Given the description of an element on the screen output the (x, y) to click on. 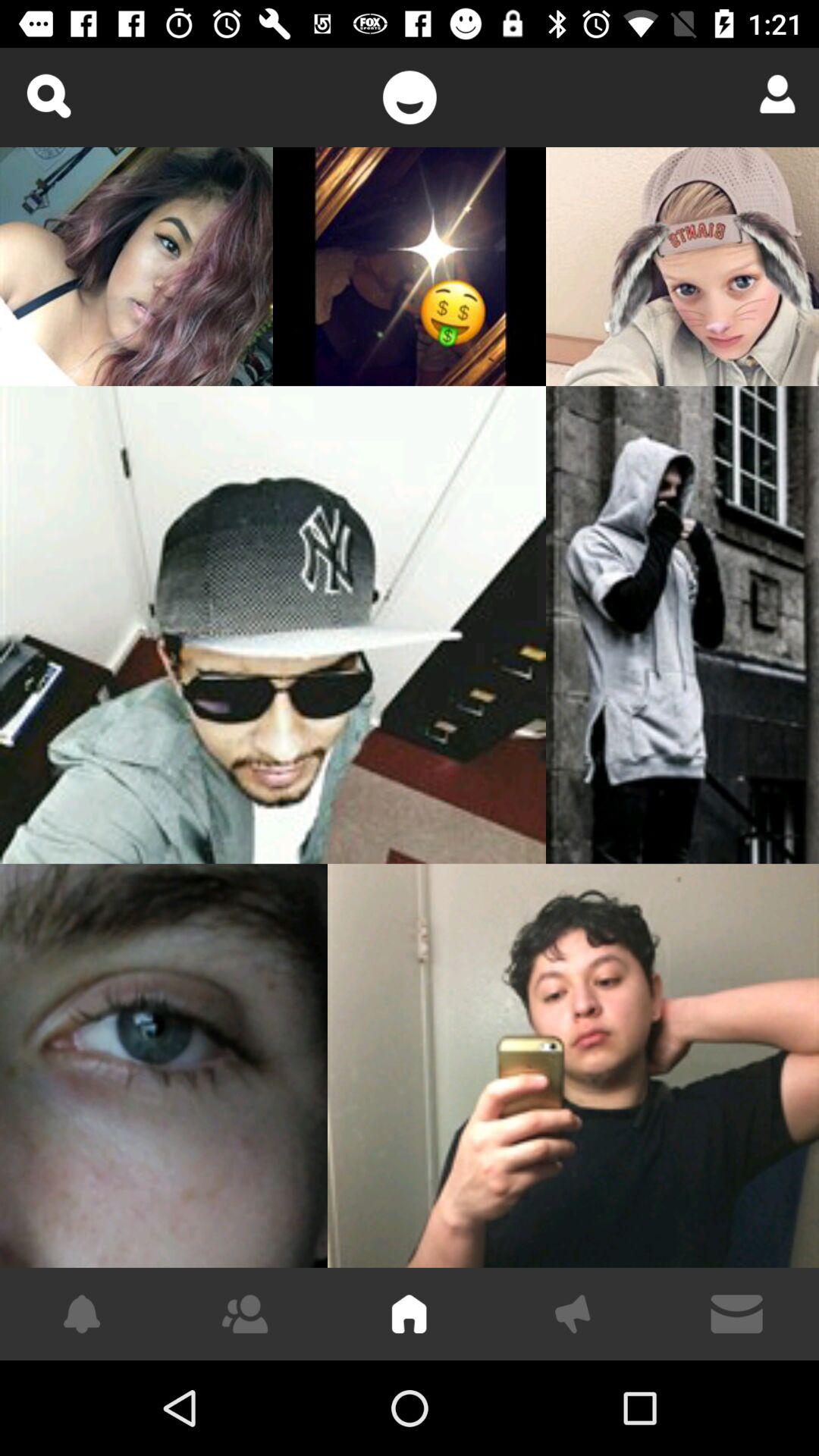
open profile (772, 93)
